Given the description of an element on the screen output the (x, y) to click on. 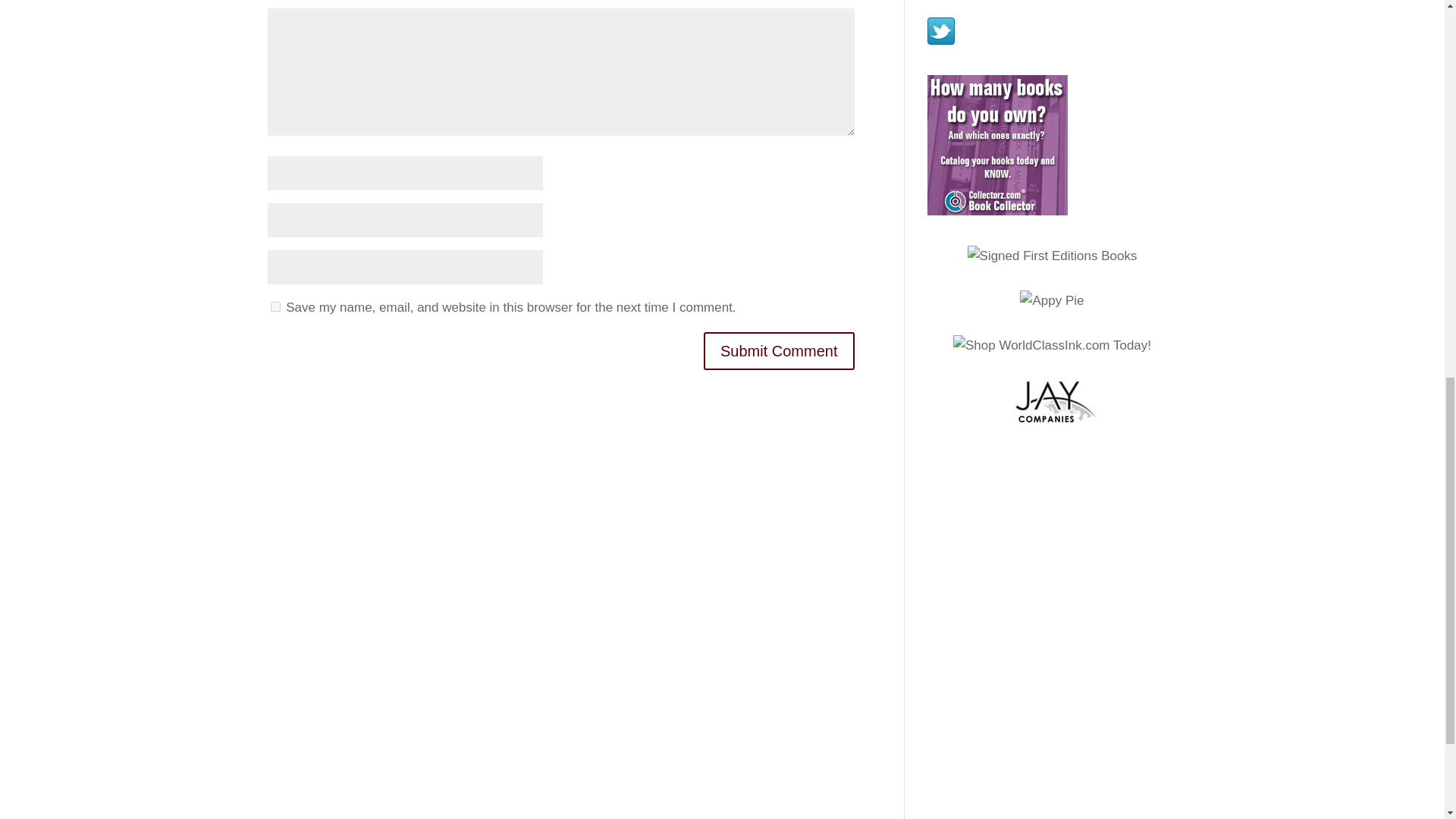
Appy Pie (1051, 301)
Submit Comment (778, 351)
Shop WorldClassInk.com Today! (1052, 345)
Submit Comment (778, 351)
yes (274, 307)
Catalog Your Book Collection (996, 145)
120x60 banner (1052, 402)
